Given the description of an element on the screen output the (x, y) to click on. 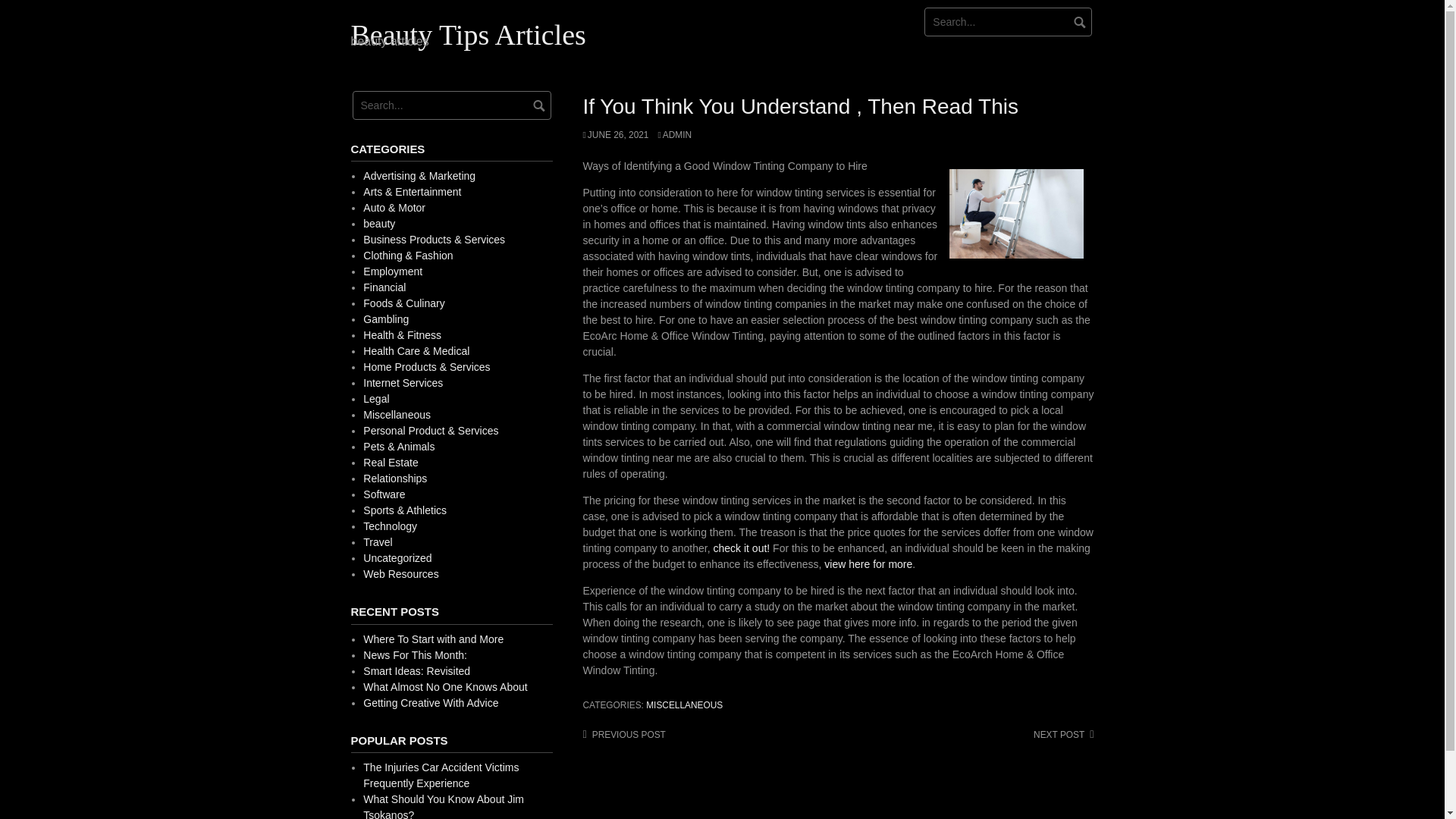
PREVIOUS POST (623, 734)
NEXT POST (1063, 734)
The Injuries Car Accident Victims Frequently Experience (440, 775)
Miscellaneous (396, 414)
News For This Month: (414, 654)
Web Resources (400, 573)
Technology (389, 526)
check it out! (741, 548)
MISCELLANEOUS (684, 705)
What Should You Know About Jim Tsokanos? (443, 806)
Legal (375, 398)
Financial (384, 287)
Where To Start with and More (432, 639)
Travel (376, 541)
Gambling (385, 318)
